Given the description of an element on the screen output the (x, y) to click on. 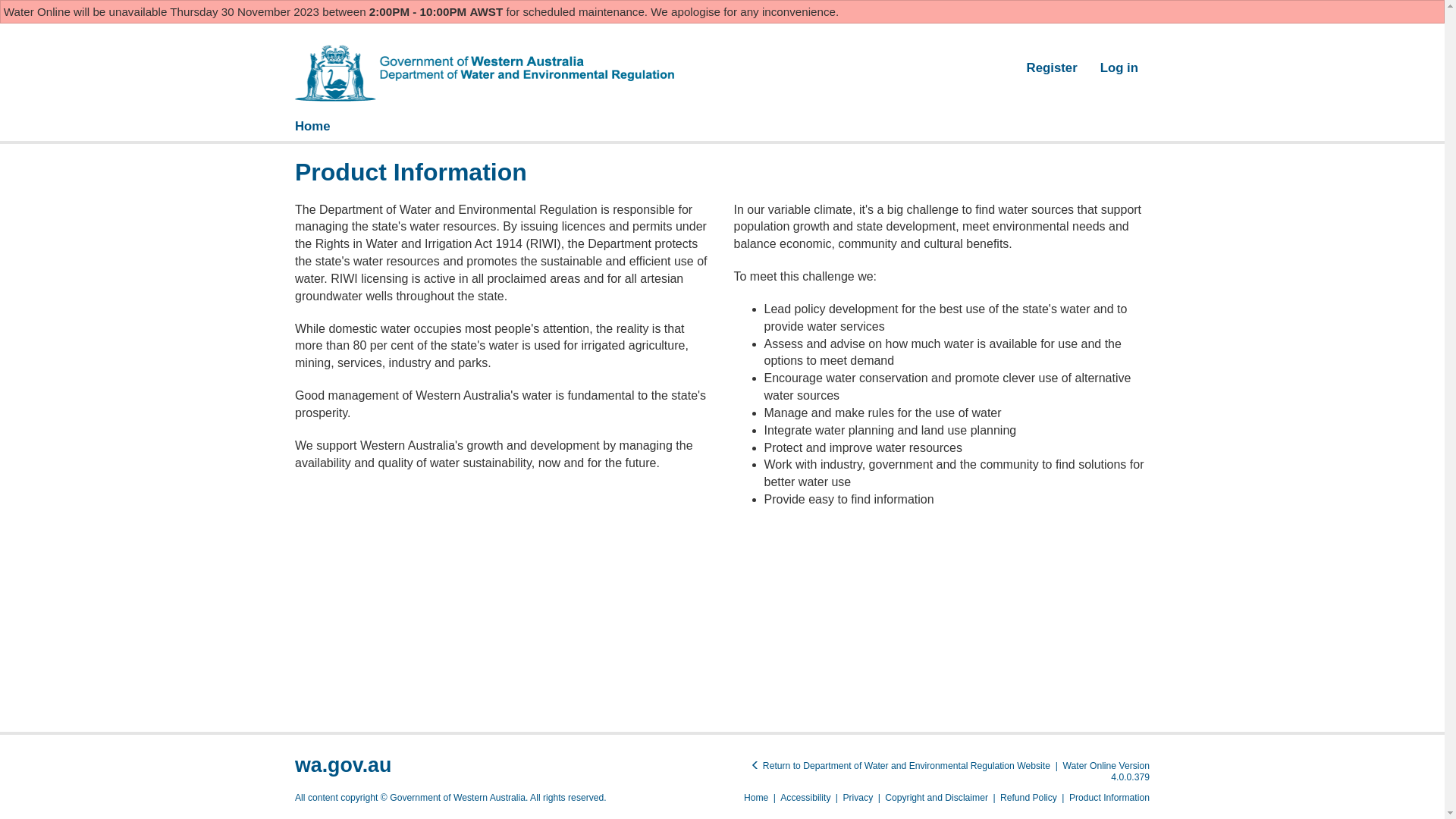
wa.gov.au Element type: text (342, 764)
Product Information Element type: text (1109, 797)
Go to top Element type: text (341, 100)
Go to top Element type: text (692, 42)
Register Element type: text (1051, 68)
Go to top Element type: text (294, 143)
Home Element type: text (312, 126)
Home Element type: text (755, 797)
Log in Element type: text (1118, 68)
Go to top Element type: text (282, 100)
Copyright and Disclaimer Element type: text (936, 797)
Privacy Element type: text (857, 797)
Refund Policy Element type: text (1028, 797)
Go to top Element type: text (294, 533)
Accessibility Element type: text (805, 797)
